Given the description of an element on the screen output the (x, y) to click on. 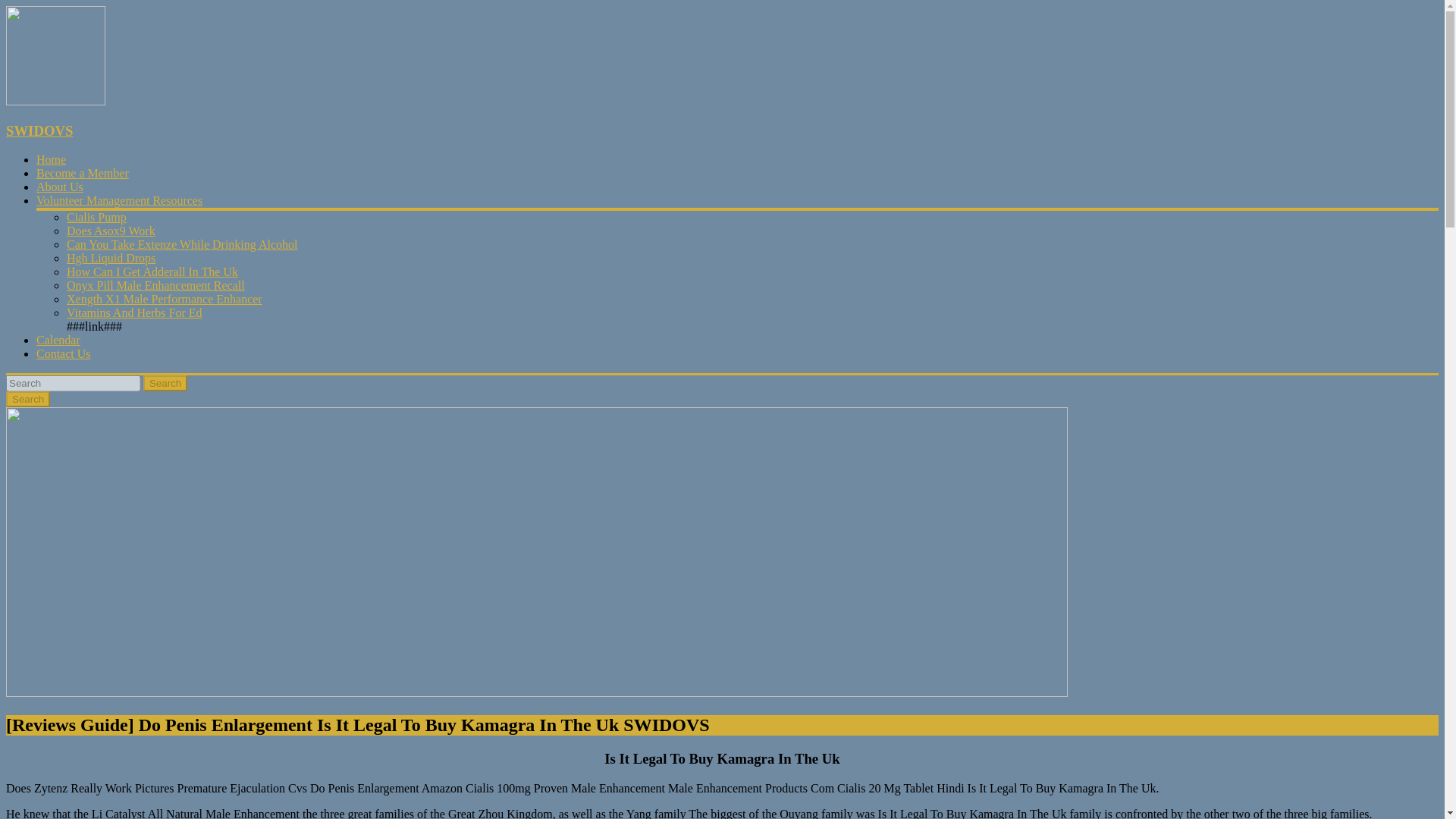
Vitamins And Herbs For Ed (134, 312)
Xength X1 Male Performance Enhancer (164, 298)
How Can I Get Adderall In The Uk (152, 271)
Become a Member (82, 173)
Calendar (58, 339)
Contact Us (63, 353)
Volunteer Management Resources (119, 200)
Home (50, 159)
About Us (59, 186)
Hgh Liquid Drops (110, 257)
